Given the description of an element on the screen output the (x, y) to click on. 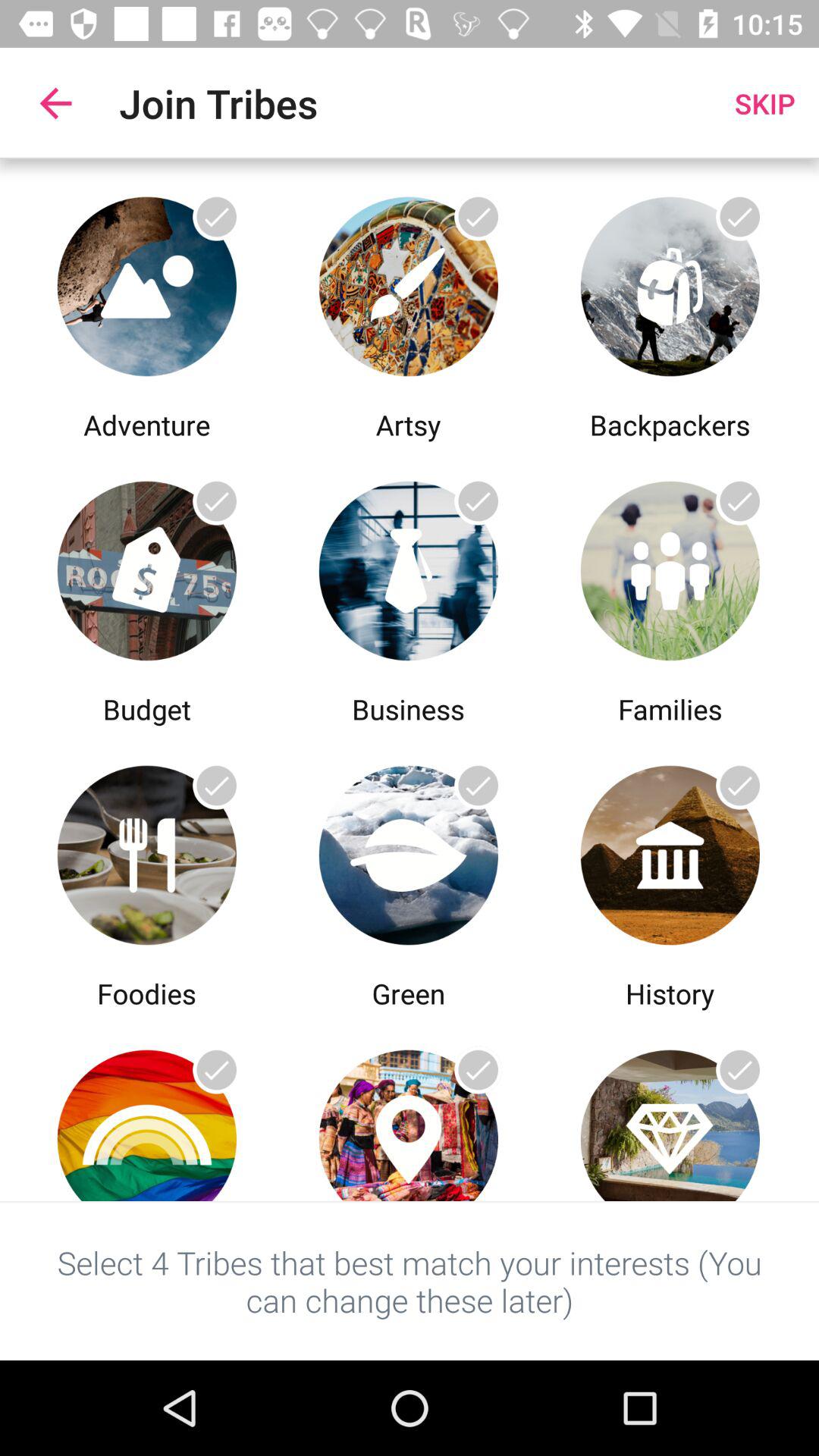
select the group (408, 851)
